Given the description of an element on the screen output the (x, y) to click on. 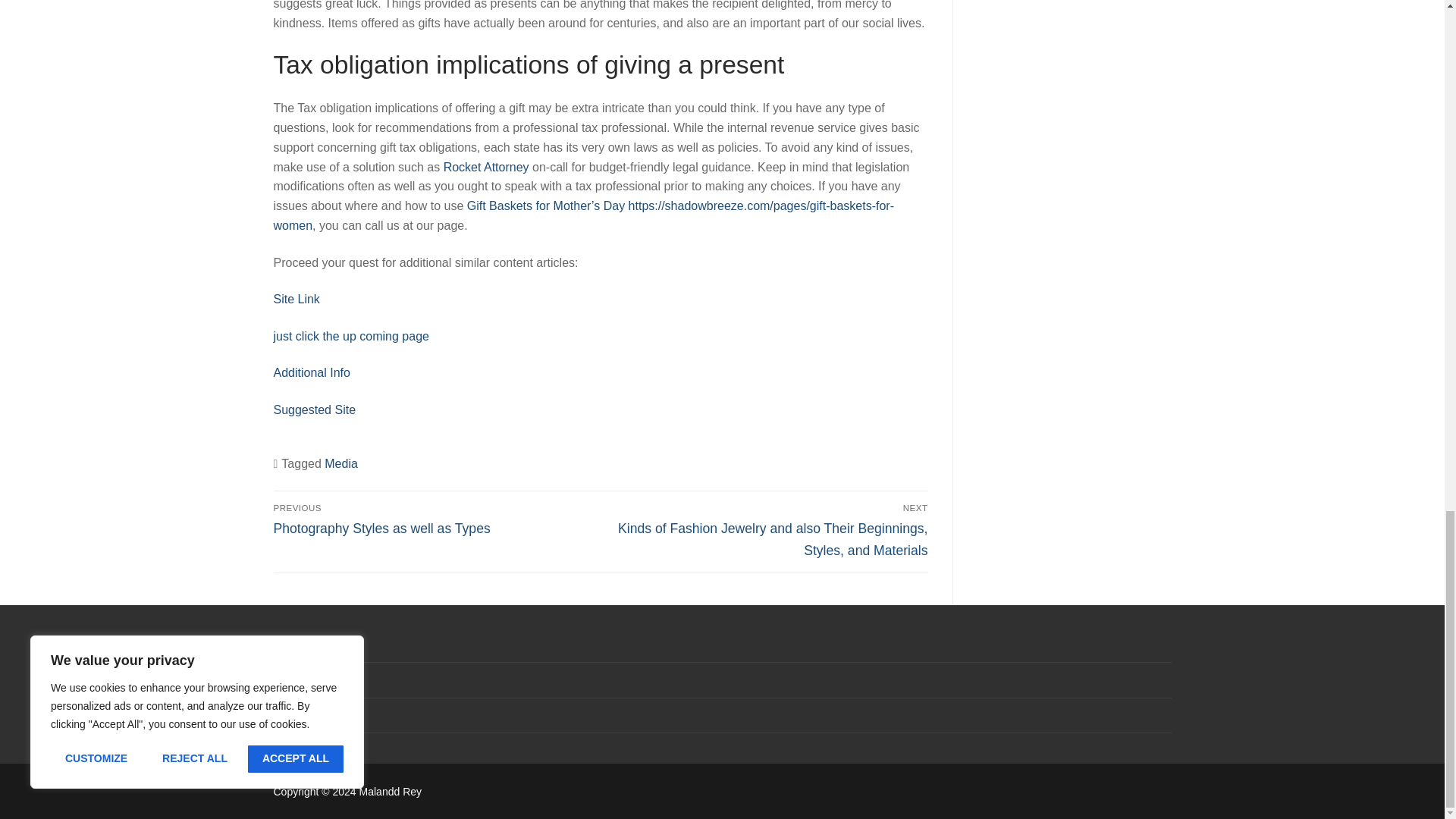
Additional Info (311, 372)
Suggested Site (314, 409)
Site Link (433, 519)
just click the up coming page (295, 298)
Rocket Attorney (350, 336)
Media (486, 166)
